Given the description of an element on the screen output the (x, y) to click on. 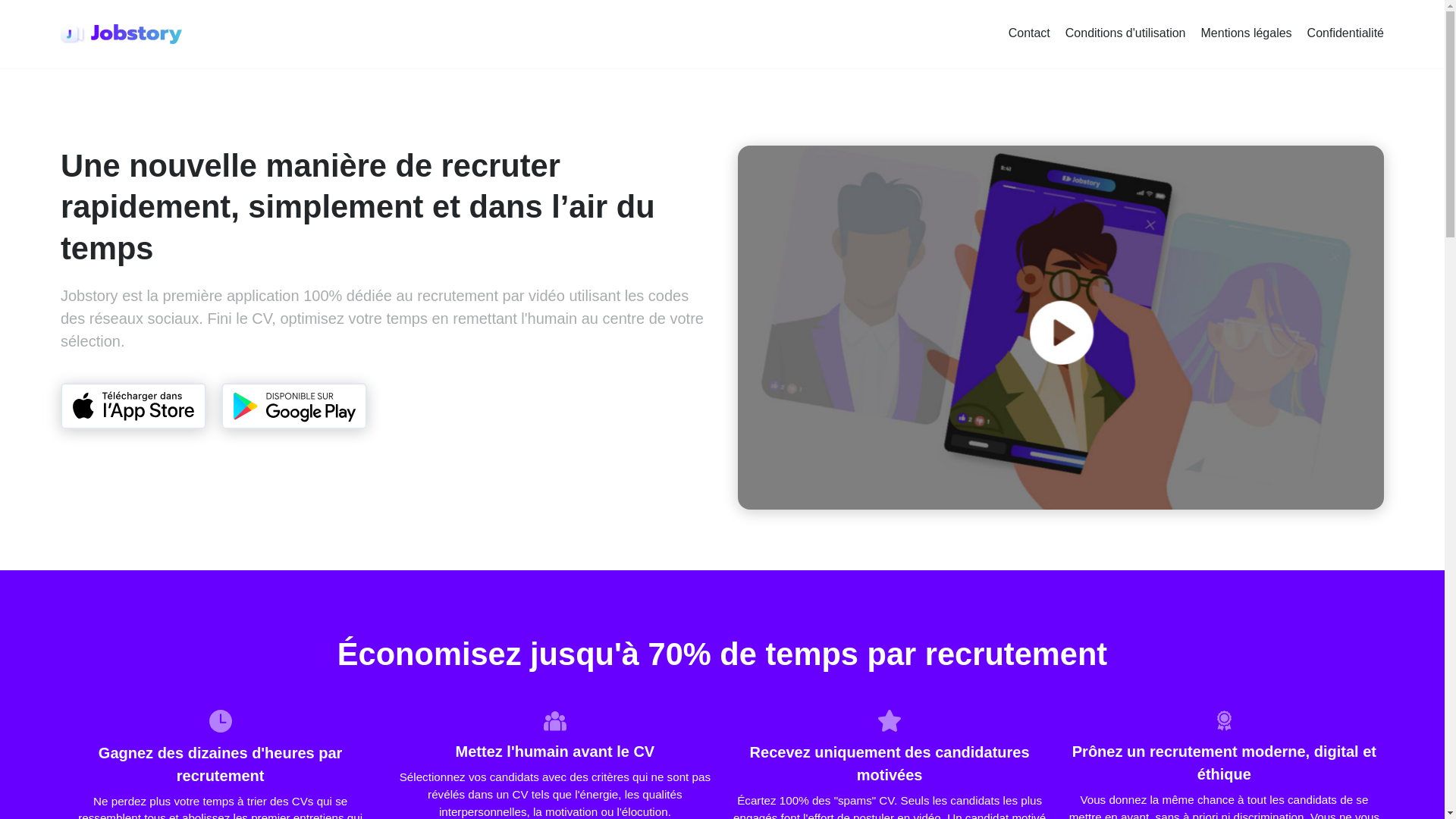
Conditions d'utilisation (1125, 33)
Contact (1029, 33)
